Given the description of an element on the screen output the (x, y) to click on. 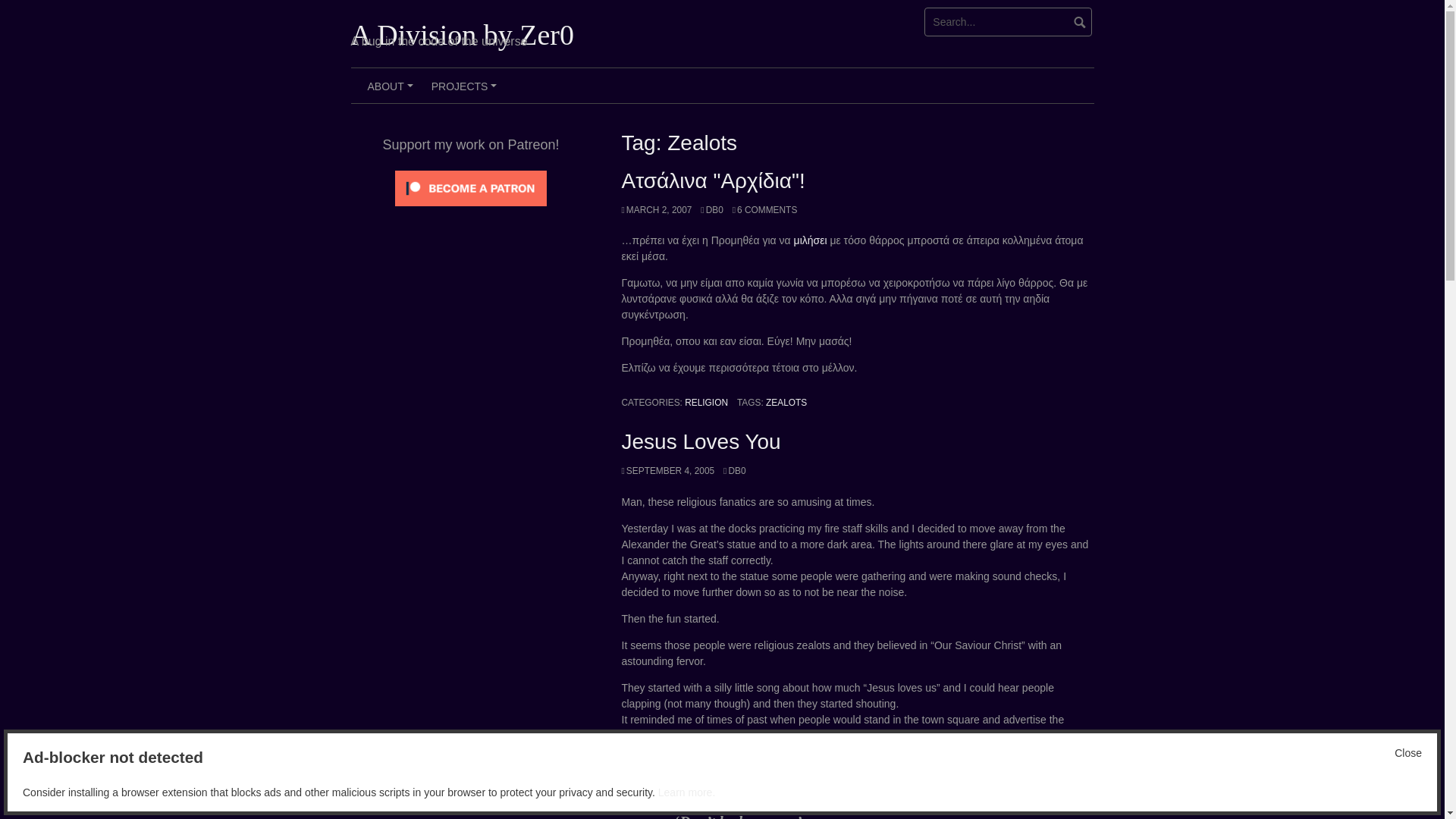
Jesus Loves You (700, 441)
Learn more. (686, 792)
Search for: (1008, 21)
6 COMMENTS (764, 209)
A Division by Zer0 (461, 34)
MARCH 2, 2007 (657, 209)
DB0 (734, 470)
SEPTEMBER 4, 2005 (667, 470)
RELIGION (706, 402)
ZEALOTS (785, 402)
